Given the description of an element on the screen output the (x, y) to click on. 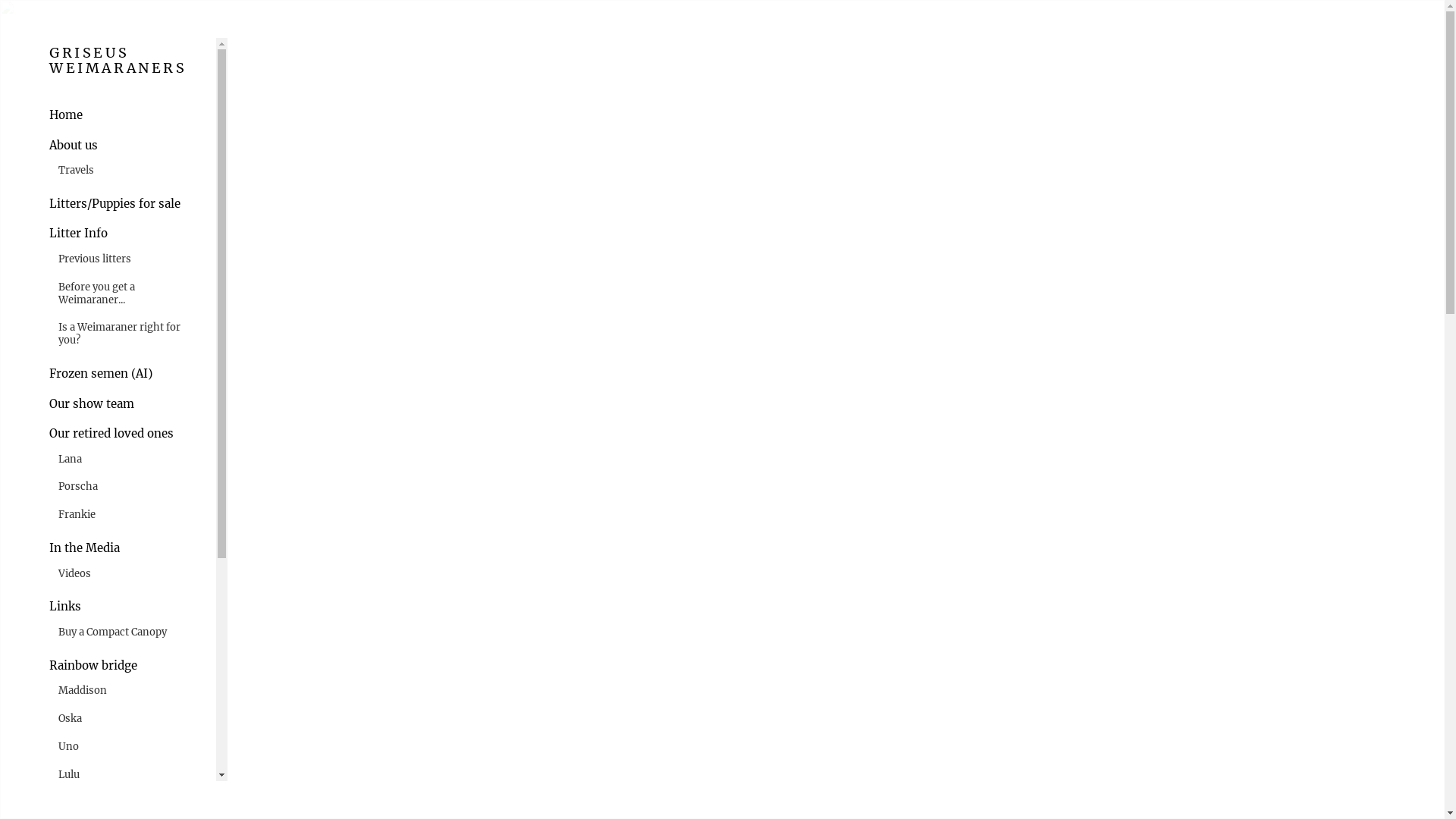
Porscha Element type: text (77, 486)
Chiq & Ferdi Element type: text (87, 802)
Litters/Puppies for sale Element type: text (114, 203)
Travels Element type: text (75, 170)
GRISEUS WEIMARANERS Element type: text (126, 65)
Our retired loved ones Element type: text (111, 433)
Litter Info Element type: text (78, 233)
Previous litters Element type: text (94, 259)
Lana Element type: text (69, 459)
Buy a Compact Canopy Element type: text (112, 632)
Frankie Element type: text (76, 515)
Our show team Element type: text (91, 404)
Home Element type: text (65, 115)
Videos Element type: text (74, 574)
Before you get a Weimaraner... Element type: text (129, 293)
Frozen semen (AI) Element type: text (100, 373)
Oska Element type: text (69, 719)
Maddison Element type: text (82, 690)
Uno Element type: text (68, 747)
In the Media Element type: text (84, 548)
Rainbow bridge Element type: text (93, 665)
Links Element type: text (65, 606)
Is a Weimaraner right for you? Element type: text (129, 334)
About us Element type: text (73, 145)
Lulu Element type: text (68, 775)
